Given the description of an element on the screen output the (x, y) to click on. 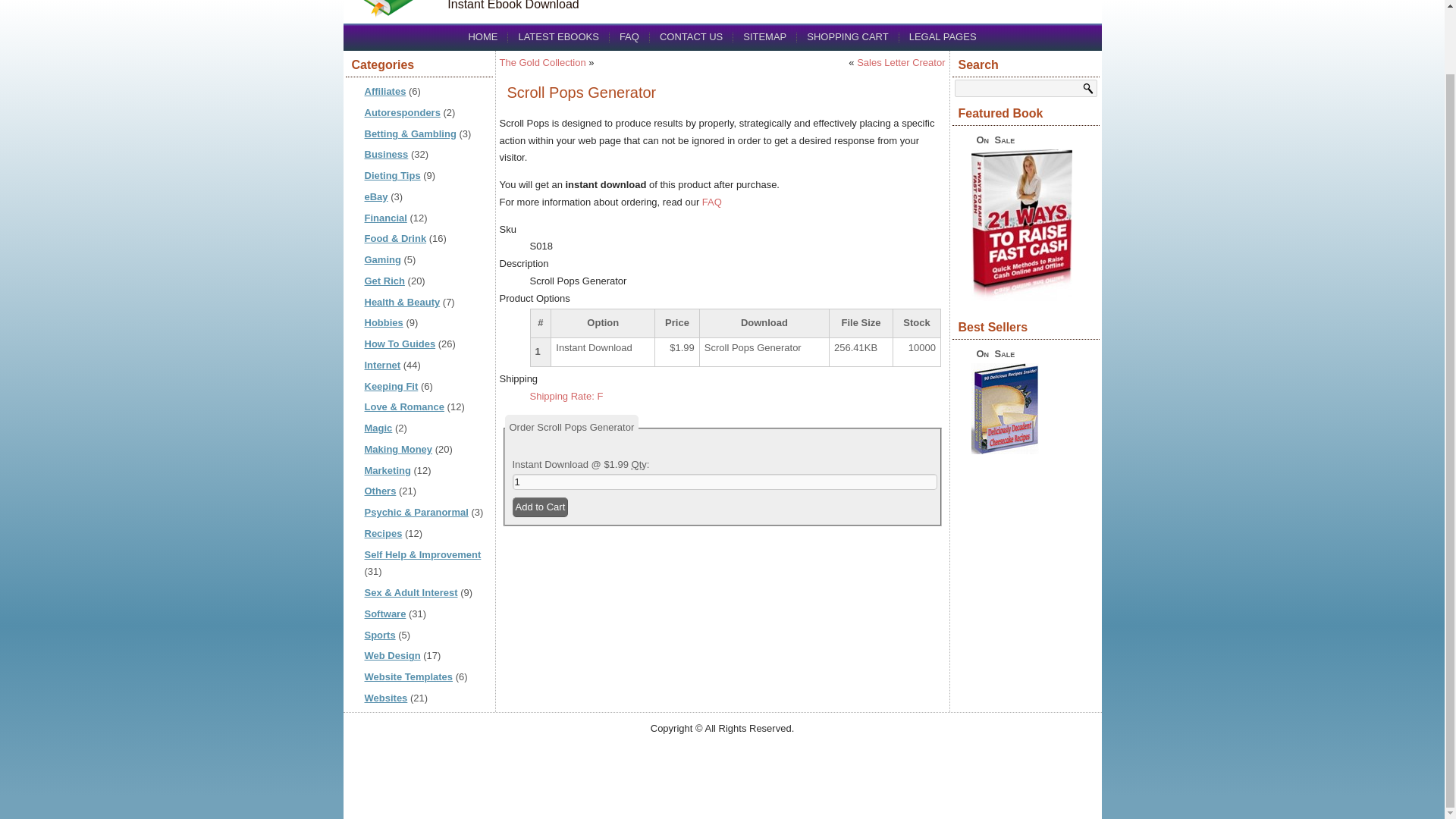
Website Templates (408, 676)
CONTACT US (691, 36)
Web Design (392, 655)
FAQ (628, 36)
SITEMAP (764, 36)
LATEST EBOOKS (558, 36)
Dieting Tips (392, 174)
Home (482, 36)
Sports (379, 634)
1 (724, 481)
